Given the description of an element on the screen output the (x, y) to click on. 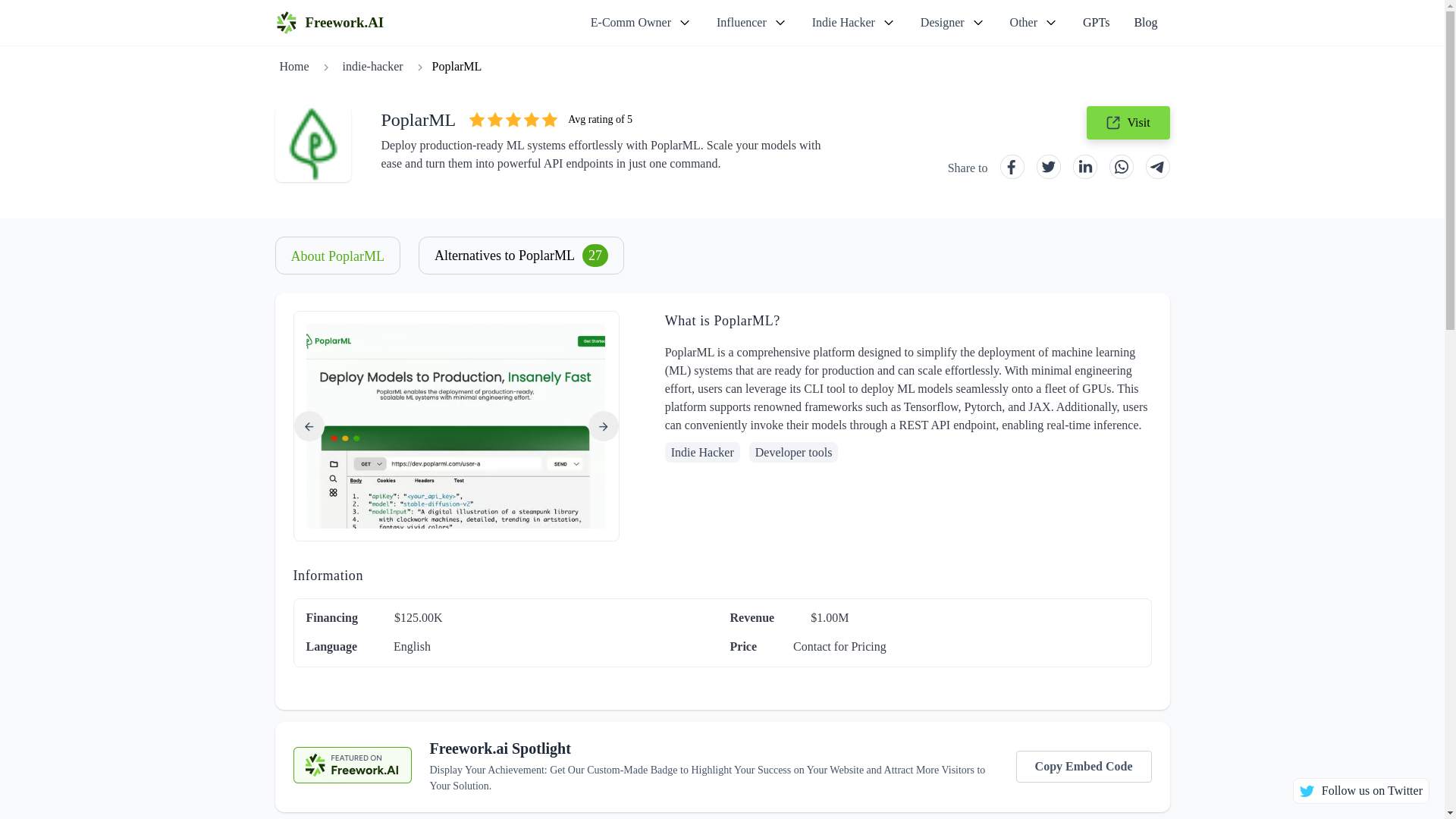
indie-hacker (372, 66)
Developer tools (793, 452)
Home (294, 66)
Indie Hacker (702, 452)
Freework.AI (329, 22)
Blog (1145, 22)
Visit (1127, 122)
GPTs (1095, 22)
